Given the description of an element on the screen output the (x, y) to click on. 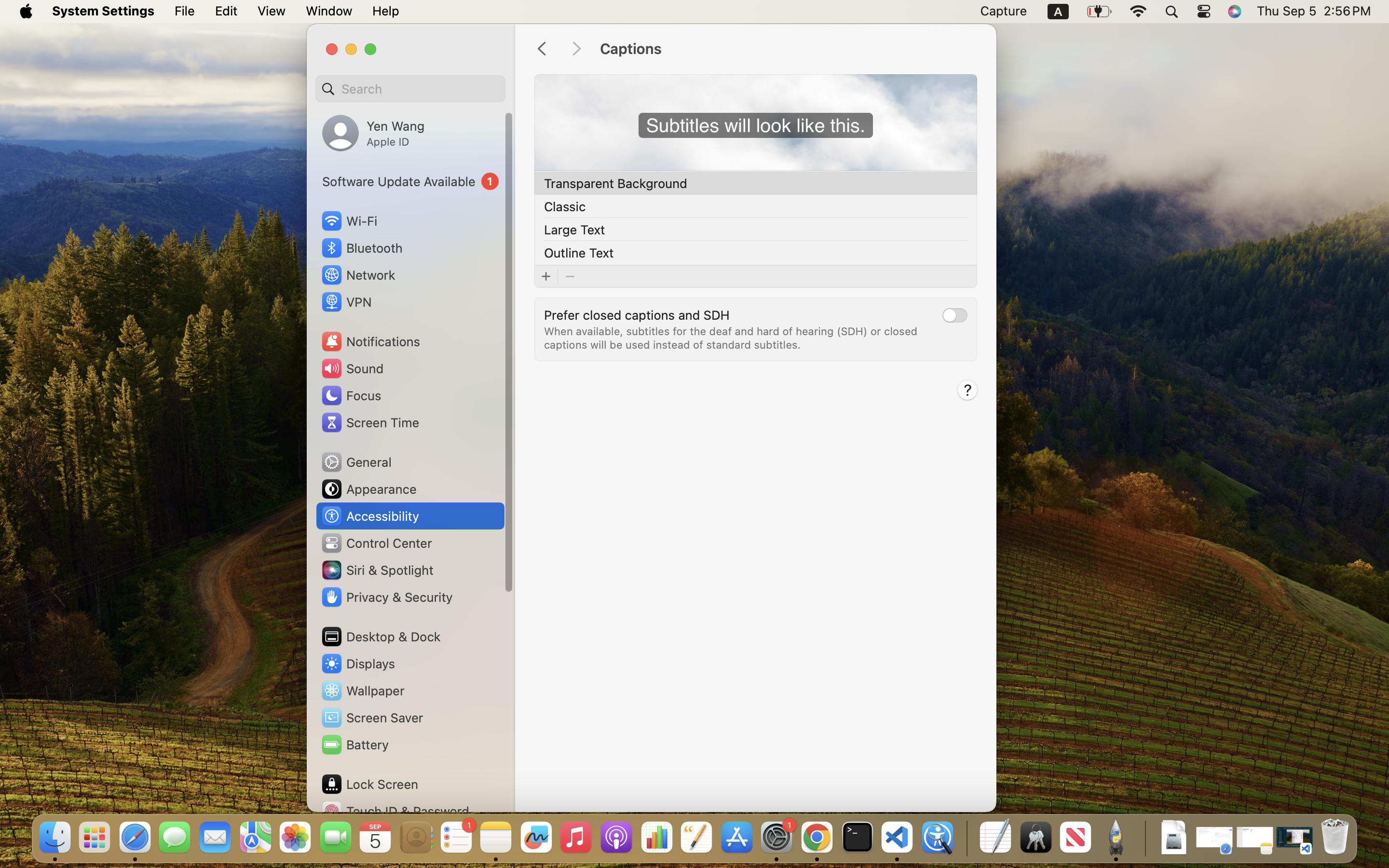
0.4285714328289032 Element type: AXDockItem (965, 837)
Touch ID & Password Element type: AXStaticText (394, 810)
Wi‑Fi Element type: AXStaticText (348, 220)
Displays Element type: AXStaticText (357, 663)
Outline Text Element type: AXStaticText (578, 252)
